Given the description of an element on the screen output the (x, y) to click on. 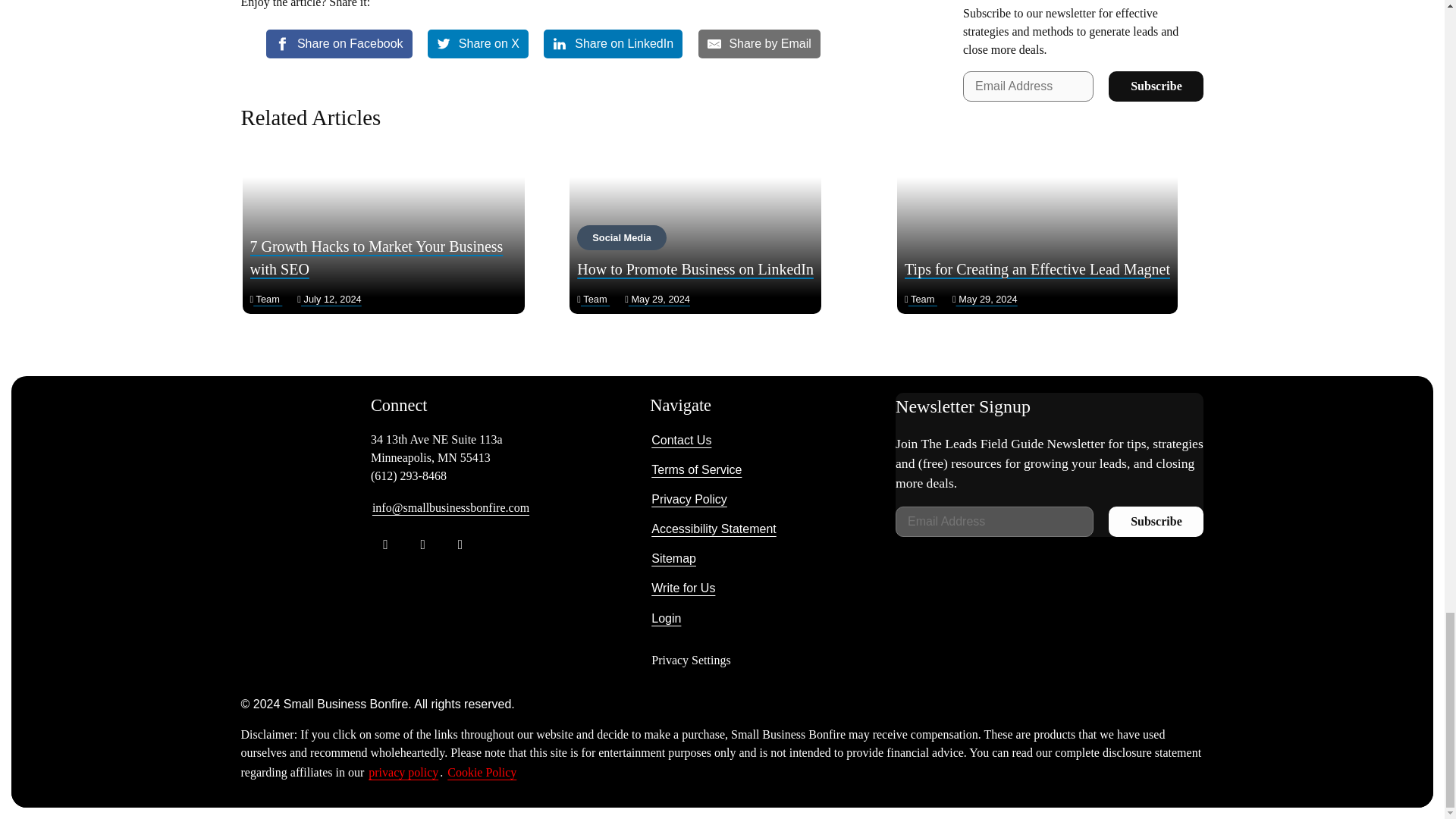
Share on Facebook (339, 43)
Share on X (478, 43)
Share on LinkedIn (612, 43)
Share by Email (759, 43)
